Given the description of an element on the screen output the (x, y) to click on. 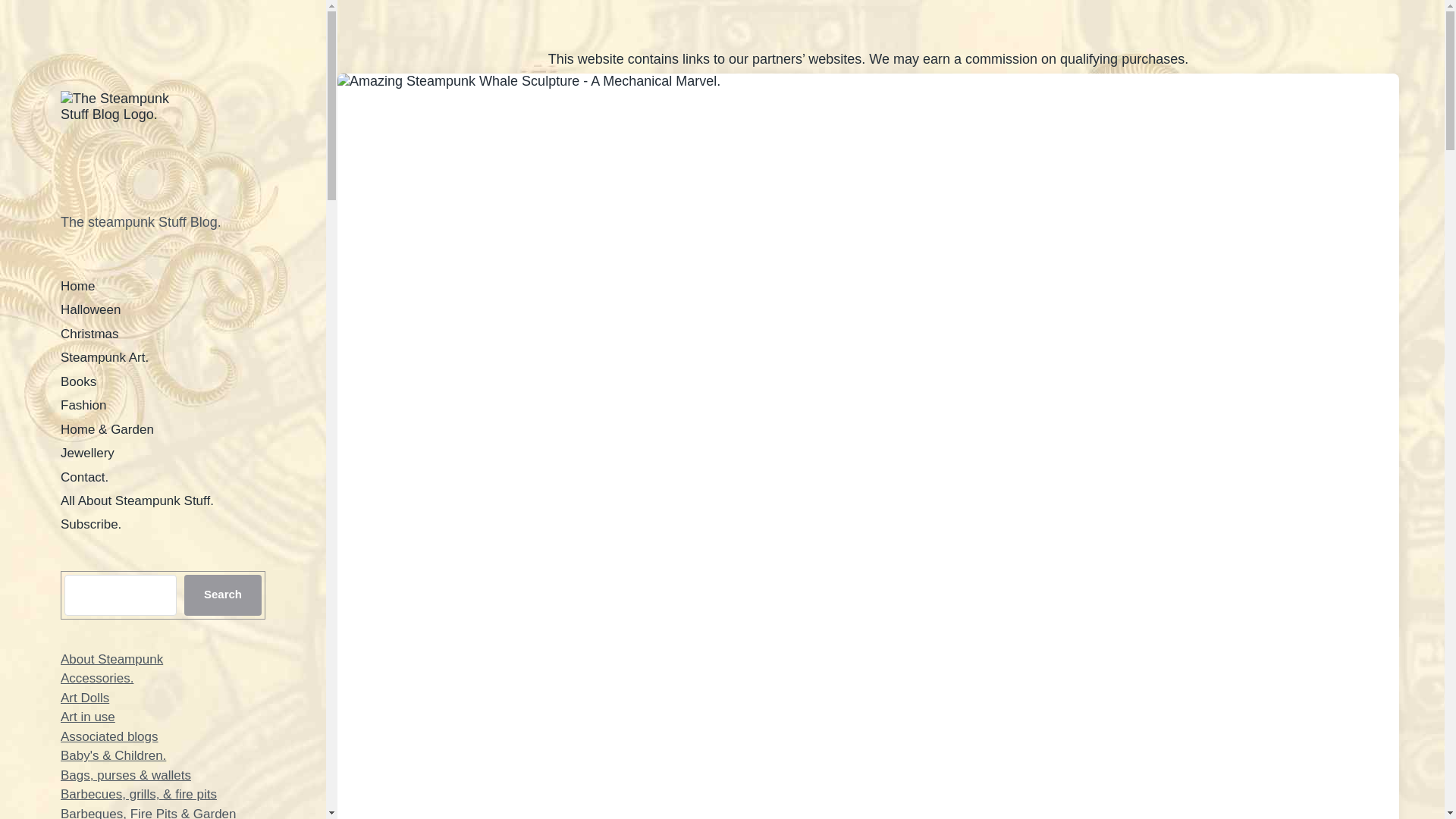
About Steampunk (112, 658)
Art in use (88, 716)
Subscribe. (90, 523)
Steampunk StuffI (115, 143)
Search (223, 594)
Art Dolls (85, 698)
Home (77, 286)
Halloween (90, 309)
Associated blogs (109, 736)
Christmas (90, 333)
